Given the description of an element on the screen output the (x, y) to click on. 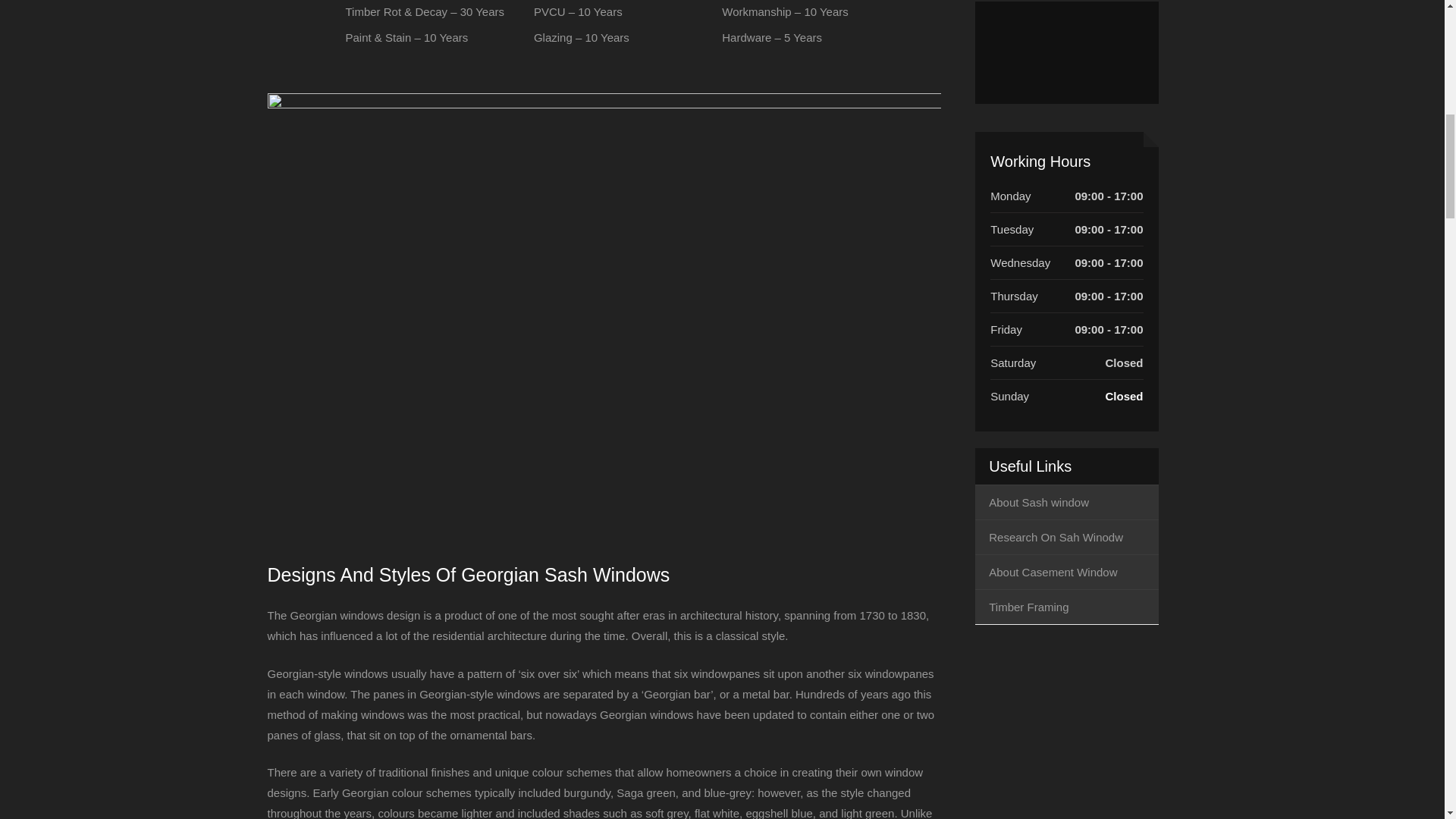
Back to top (1413, 26)
